Given the description of an element on the screen output the (x, y) to click on. 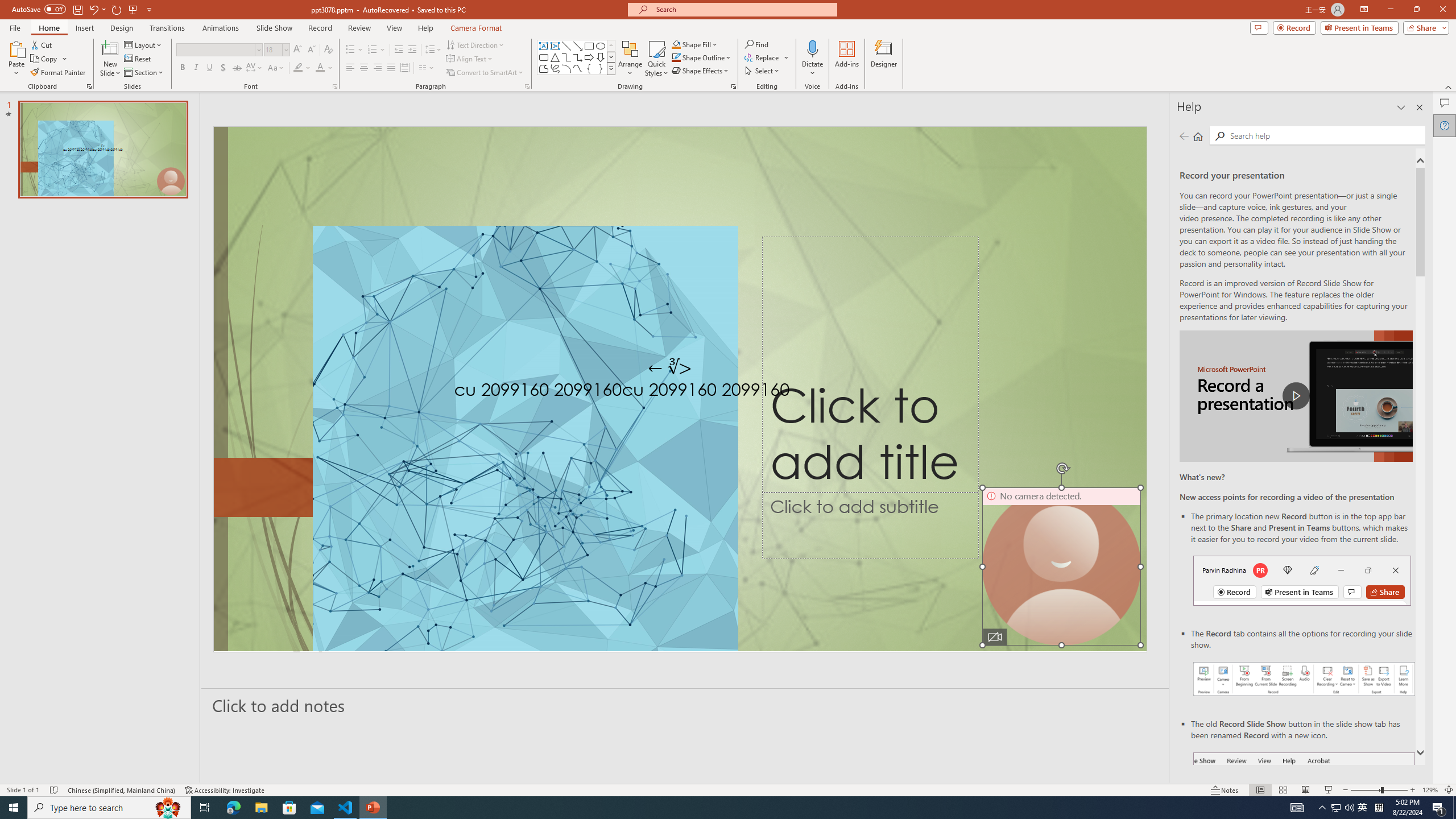
Text Highlight Color Yellow (297, 67)
Office Clipboard... (88, 85)
Shapes (611, 68)
Italic (195, 67)
Curve (577, 68)
Customize Quick Access Toolbar (149, 9)
Rectangle (589, 45)
Select (762, 69)
Font Size (276, 49)
Freeform: Scribble (554, 68)
Slide (103, 149)
Zoom to Fit  (1449, 790)
